Given the description of an element on the screen output the (x, y) to click on. 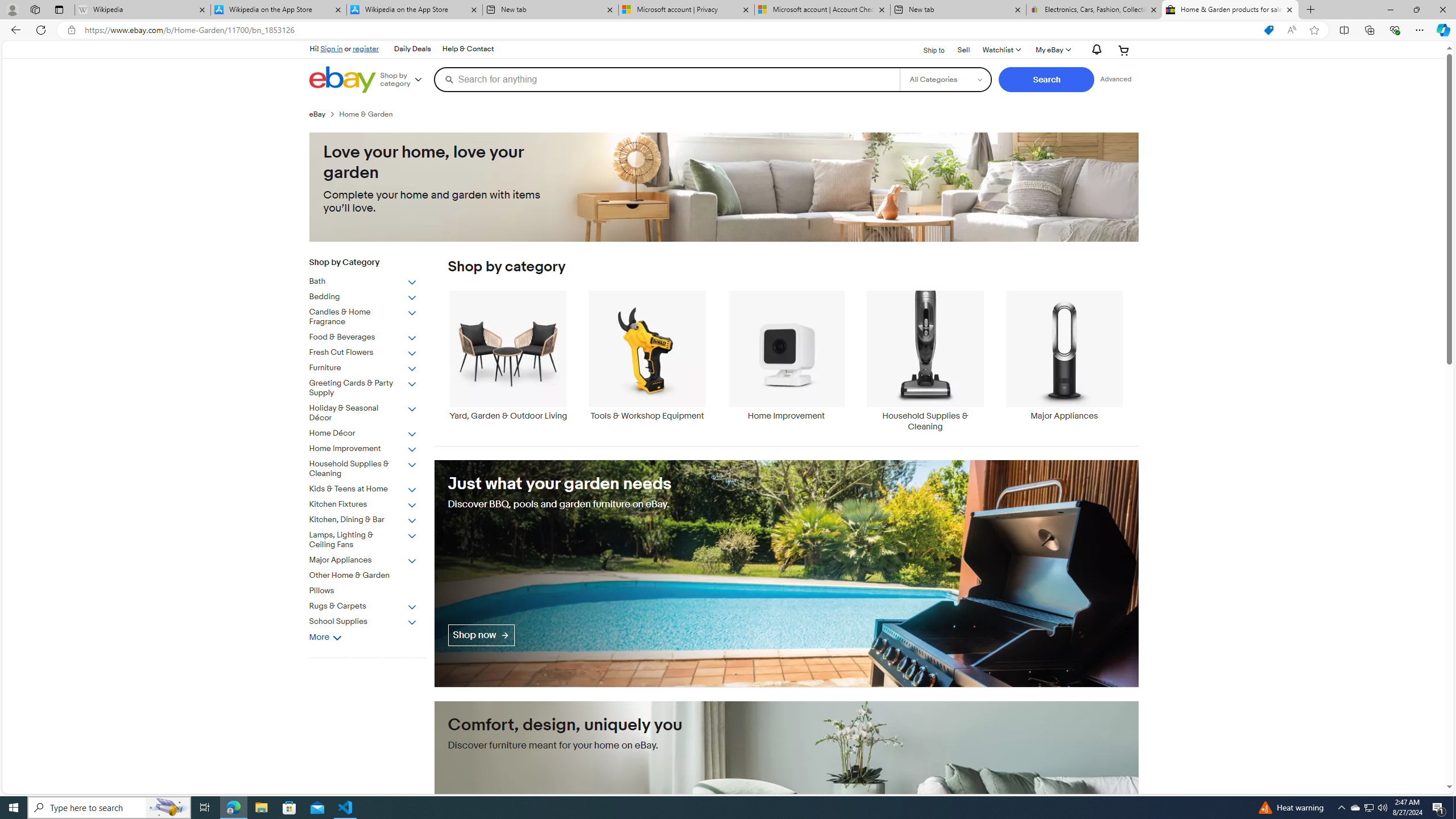
Candles & Home Fragrance (371, 314)
Greeting Cards & Party Supply (362, 388)
Close tab (1289, 9)
Kids & Teens at Home (371, 486)
This site has coupons! Shopping in Microsoft Edge (1268, 29)
Pillows (362, 590)
Microsoft account | Account Checkup (822, 9)
Bath (371, 279)
WatchlistExpand Watch List (1000, 49)
Furniture (371, 365)
Home & Garden products for sale | eBay (1230, 9)
Rugs & Carpets (362, 606)
Lamps, Lighting & Ceiling Fans (362, 539)
Sell (963, 49)
